Given the description of an element on the screen output the (x, y) to click on. 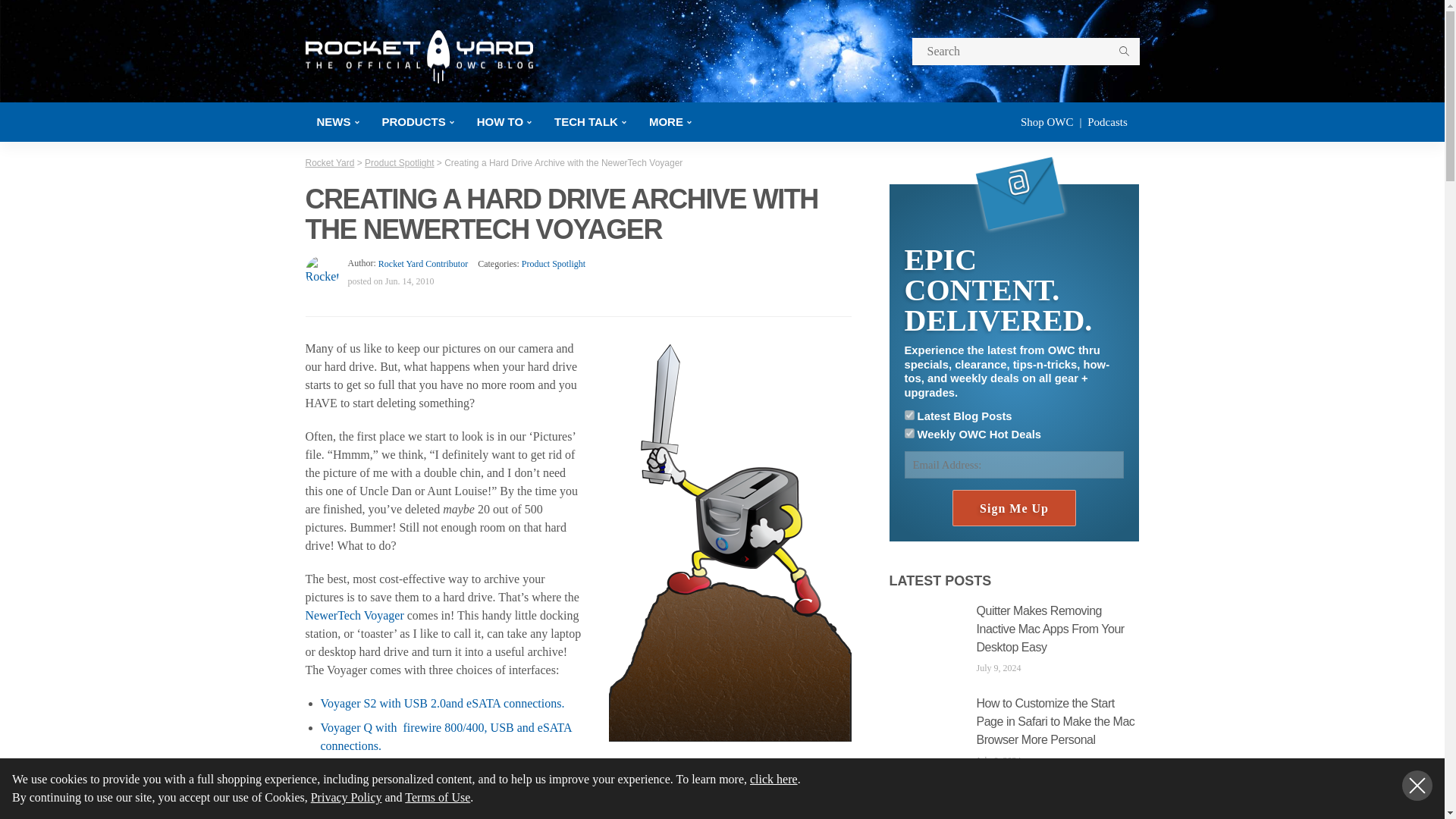
search for: (1024, 51)
Sign Me Up (1013, 507)
0bcd03ec00000000000000000000001f995c (909, 415)
Go to Rocket Yard. (328, 163)
Product Spotlight (553, 263)
Go to the Product Spotlight category archives. (399, 163)
NEWS (336, 121)
